Given the description of an element on the screen output the (x, y) to click on. 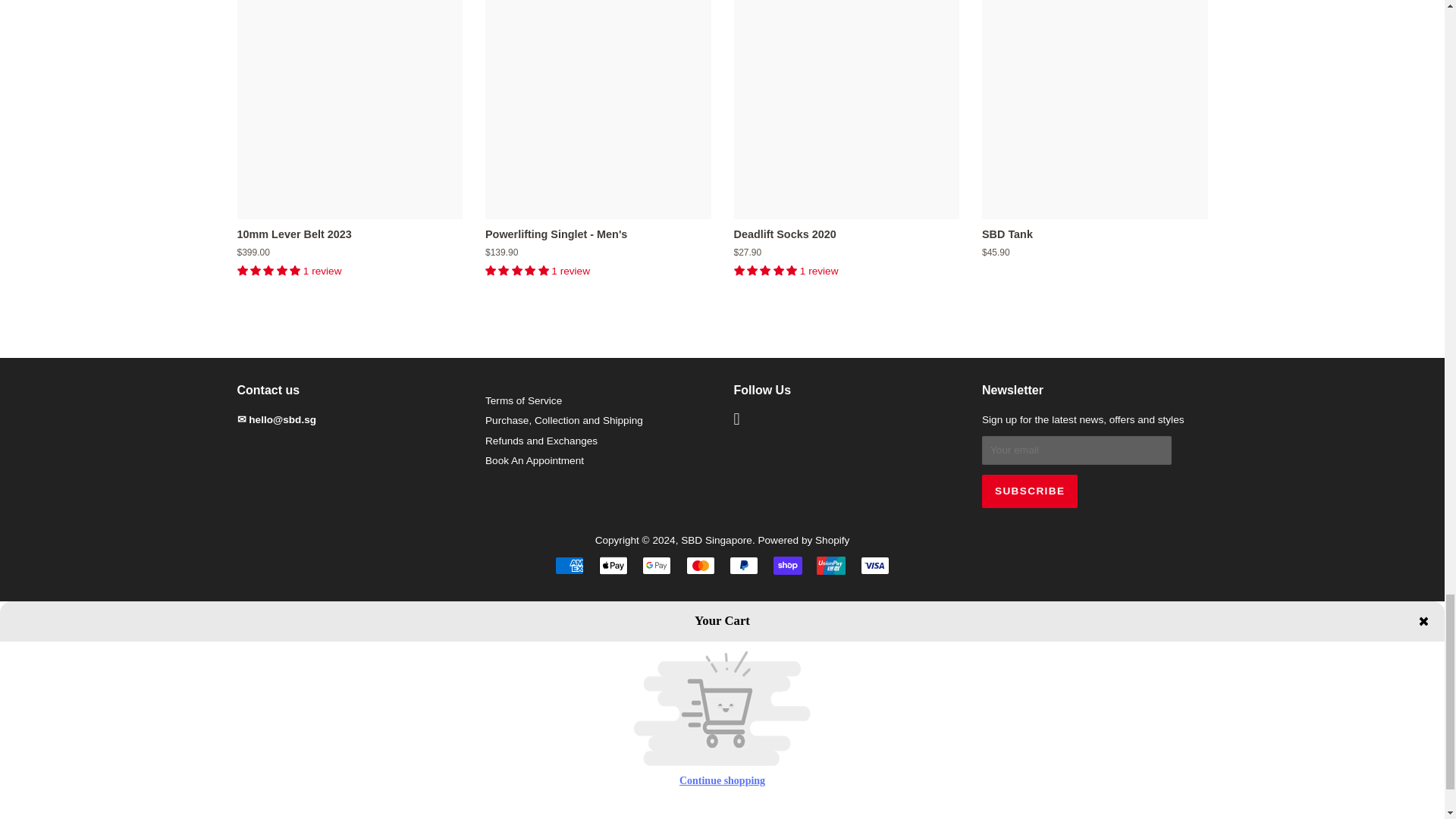
Google Pay (656, 565)
Mastercard (699, 565)
Shop Pay (787, 565)
Union Pay (830, 565)
Apple Pay (612, 565)
Visa (874, 565)
American Express (568, 565)
Subscribe (1029, 491)
PayPal (743, 565)
